Given the description of an element on the screen output the (x, y) to click on. 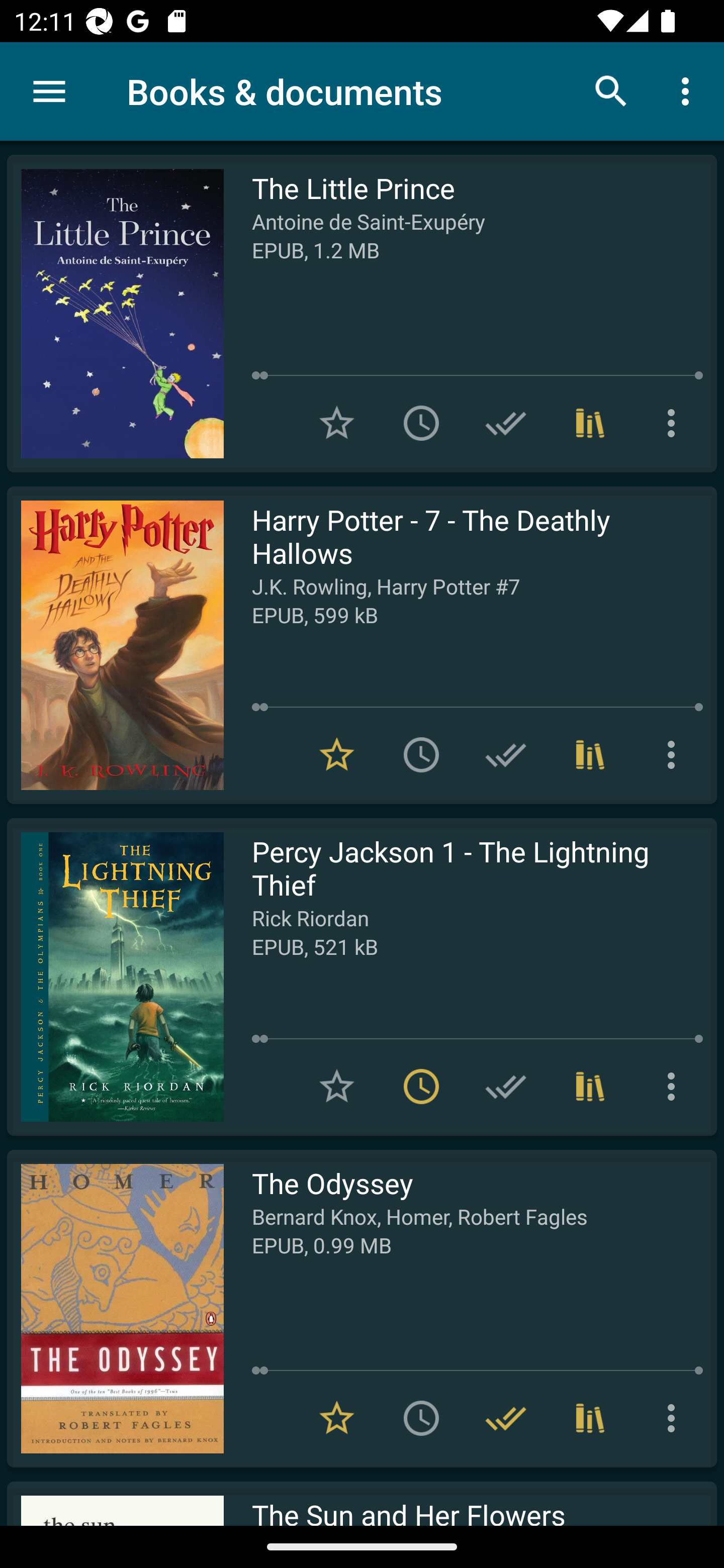
Menu (49, 91)
Search books & documents (611, 90)
More options (688, 90)
Read The Little Prince (115, 313)
Add to Favorites (336, 423)
Add to To read (421, 423)
Add to Have read (505, 423)
Collections (1) (590, 423)
More options (674, 423)
Read Harry Potter - 7 - The Deathly Hallows (115, 645)
Remove from Favorites (336, 753)
Add to To read (421, 753)
Add to Have read (505, 753)
Collections (1) (590, 753)
More options (674, 753)
Read Percy Jackson 1 - The Lightning Thief (115, 976)
Add to Favorites (336, 1086)
Remove from To read (421, 1086)
Add to Have read (505, 1086)
Collections (1) (590, 1086)
More options (674, 1086)
Read The Odyssey (115, 1308)
Remove from Favorites (336, 1417)
Add to To read (421, 1417)
Remove from Have read (505, 1417)
Collections (2) (590, 1417)
More options (674, 1417)
